Given the description of an element on the screen output the (x, y) to click on. 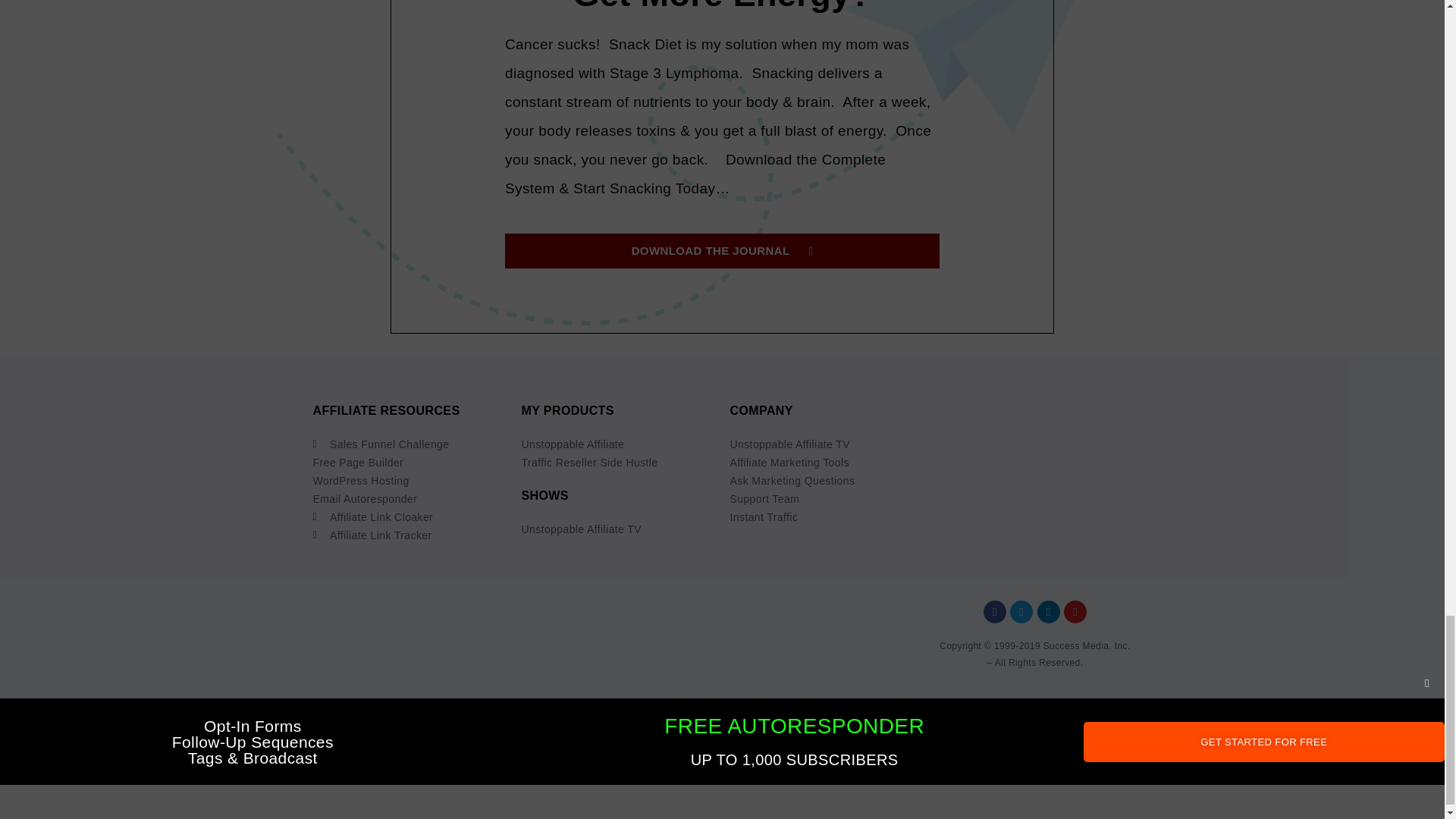
Email Autoresponder (409, 498)
Unstoppable Affiliate TV (617, 529)
WordPress Hosting (409, 480)
Free Page Builder (409, 462)
Unstoppable Affiliate TV (826, 443)
DOWNLOAD THE JOURNAL (722, 250)
Affiliate Link Cloaker (409, 516)
Affiliate Link Tracker (409, 535)
Traffic Reseller Side Hustle (617, 462)
Unstoppable Affiliate (617, 443)
Sales Funnel Challenge (409, 443)
